Given the description of an element on the screen output the (x, y) to click on. 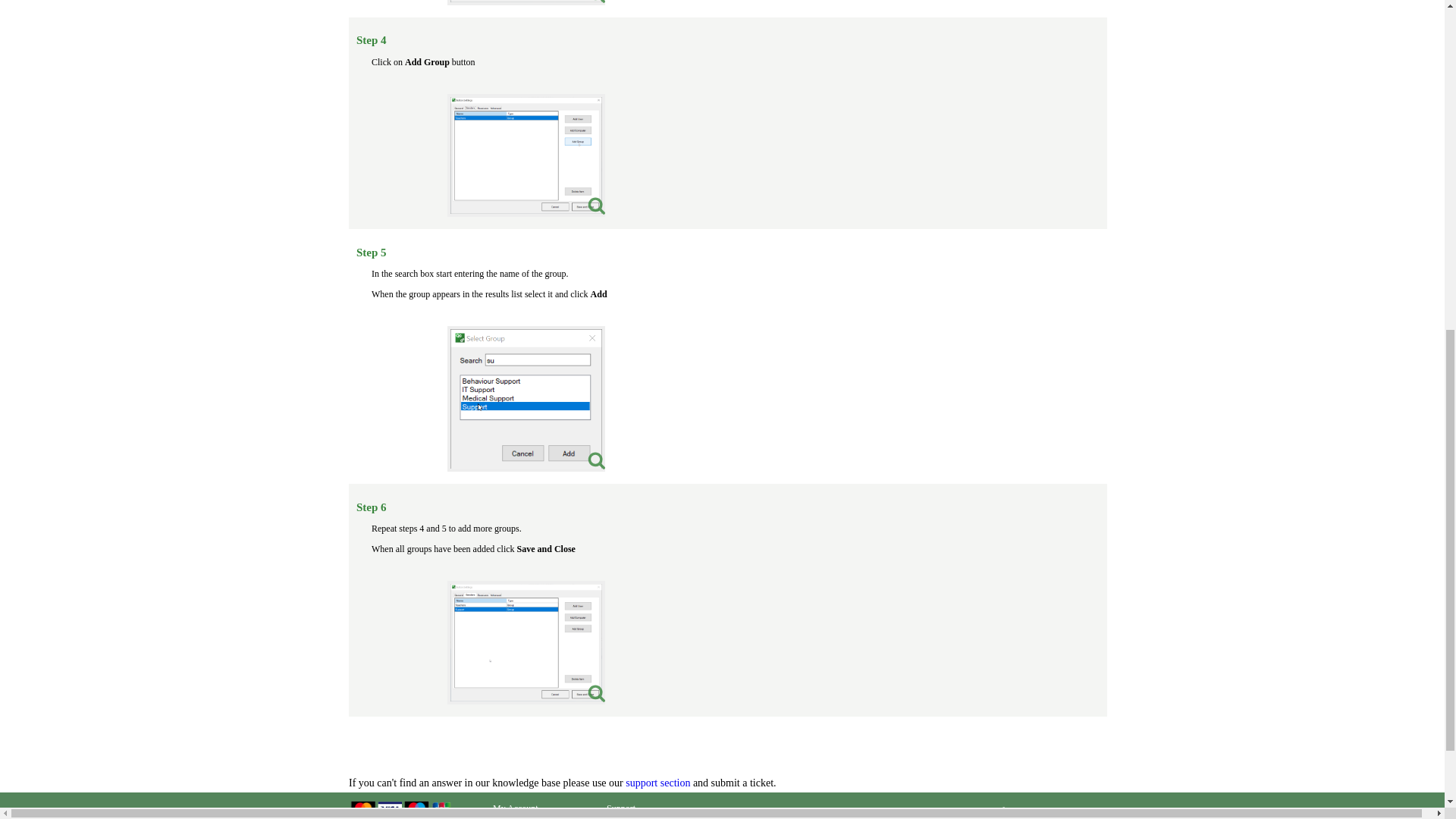
support section (658, 782)
My Account (534, 808)
Support (648, 808)
